Given the description of an element on the screen output the (x, y) to click on. 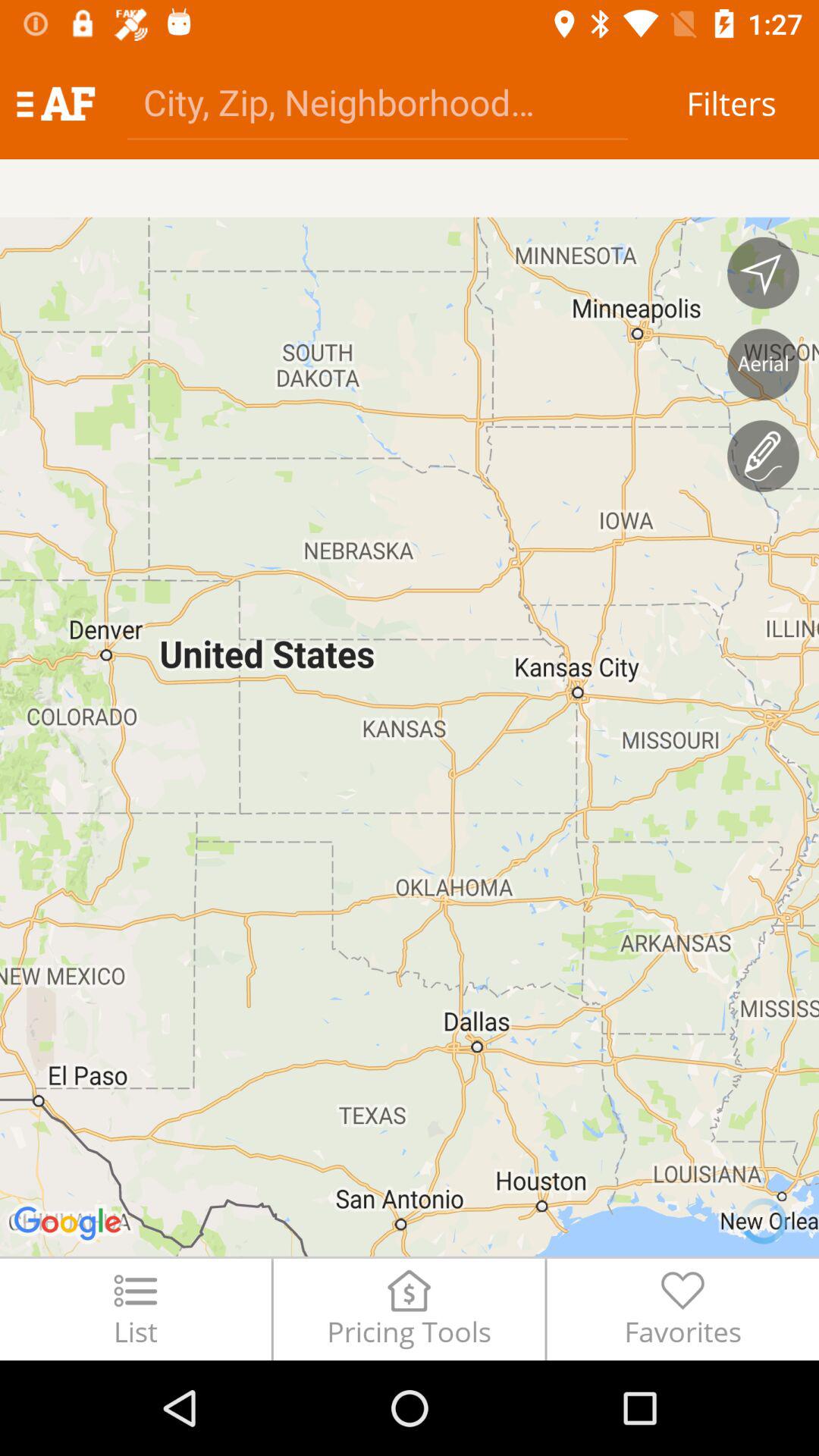
choose the item next to the list item (408, 1309)
